Given the description of an element on the screen output the (x, y) to click on. 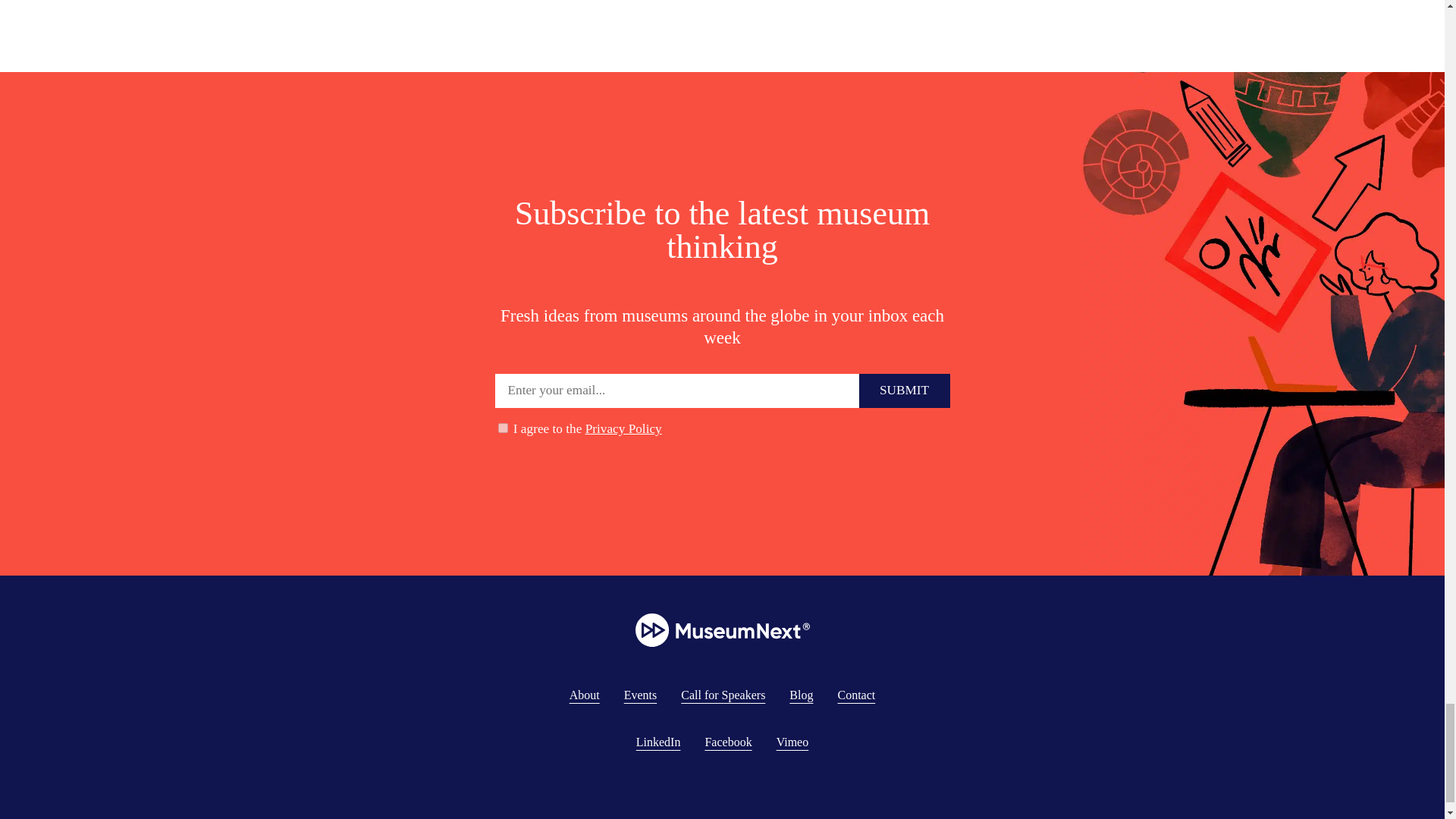
About (584, 694)
Submit (904, 390)
Facebook (727, 741)
1 (501, 428)
Call for Speakers (723, 694)
Contact (856, 694)
Submit (904, 390)
LinkedIn (658, 741)
Events (641, 694)
Blog (800, 694)
Vimeo (792, 741)
Privacy Policy (623, 428)
